Given the description of an element on the screen output the (x, y) to click on. 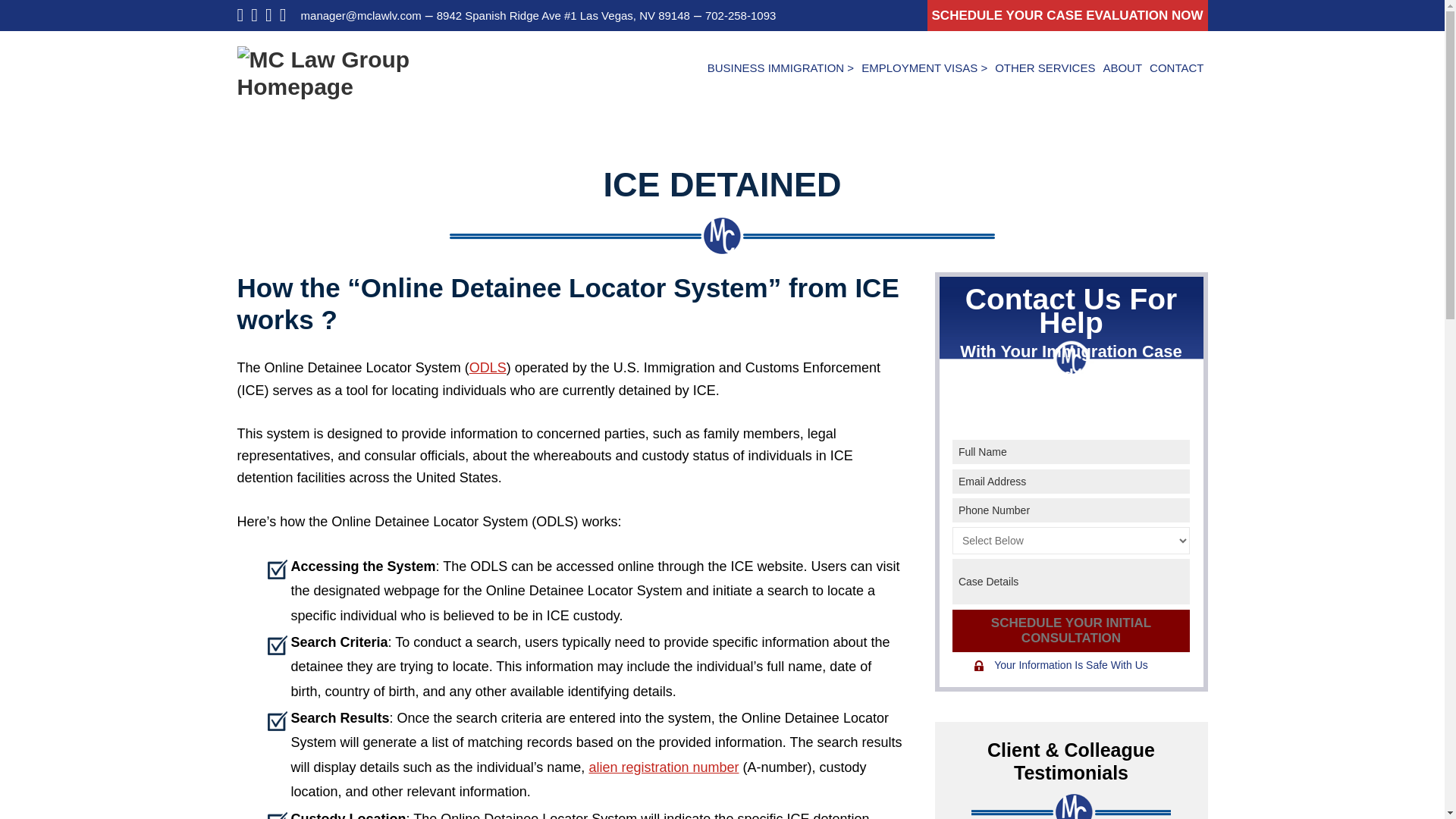
OTHER SERVICES (1045, 67)
702-258-1093 (740, 15)
SCHEDULE YOUR CASE EVALUATION NOW (1067, 15)
Schedule your initial consultation (1070, 630)
MC Law Group (349, 59)
